Given the description of an element on the screen output the (x, y) to click on. 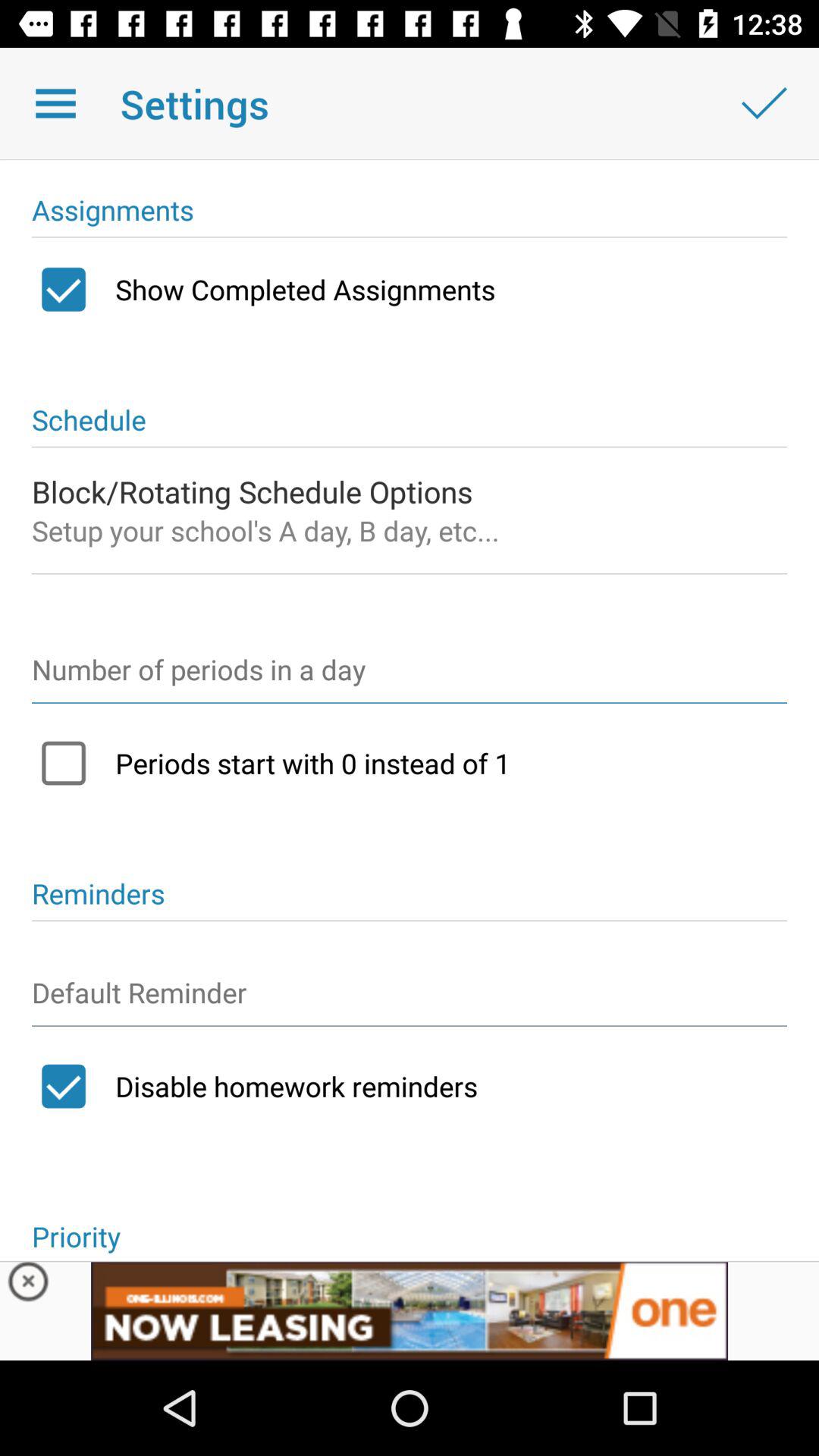
toggle advertisement (409, 1310)
